Given the description of an element on the screen output the (x, y) to click on. 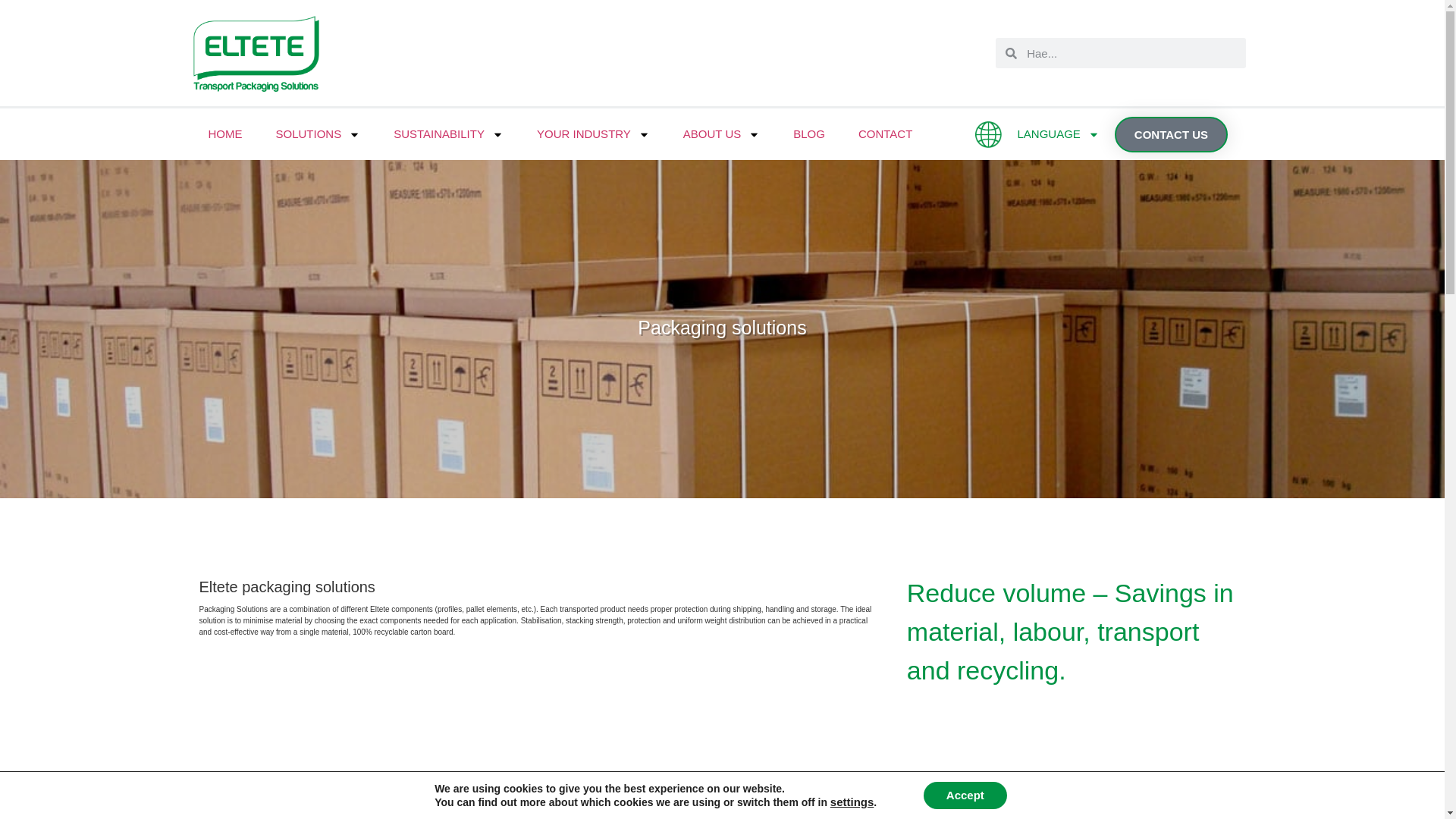
YOUR INDUSTRY (592, 133)
SOLUTIONS (318, 133)
SUSTAINABILITY (448, 133)
HOME (224, 133)
